Given the description of an element on the screen output the (x, y) to click on. 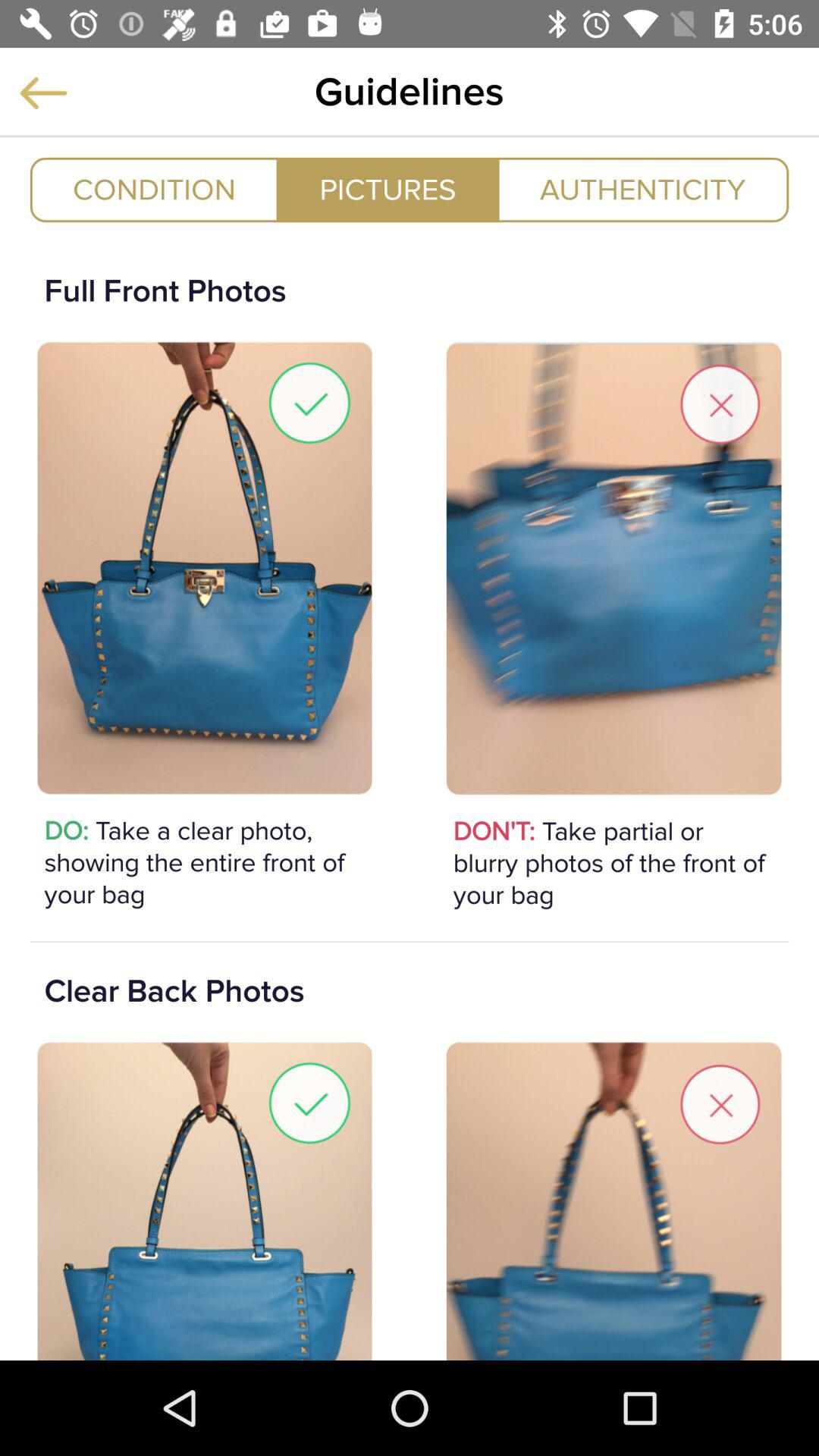
press icon below guidelines (642, 189)
